Given the description of an element on the screen output the (x, y) to click on. 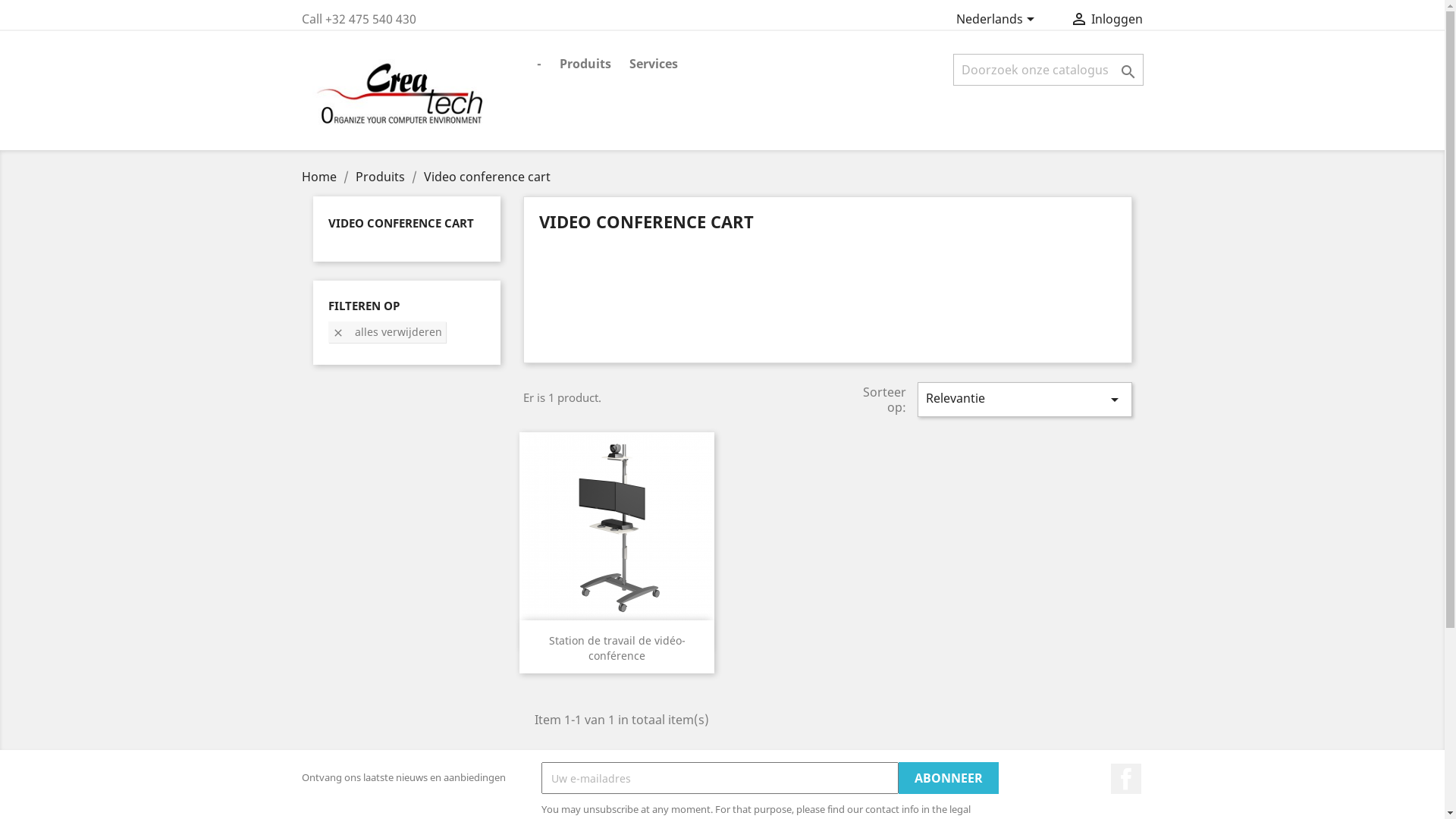
Produits Element type: text (380, 176)
VIDEO CONFERENCE CART Element type: text (400, 222)
Facebook Element type: text (1125, 778)
Services Element type: text (653, 64)
Video conference cart Element type: text (486, 176)
Abonneer Element type: text (948, 777)
- Element type: text (539, 64)
Produits Element type: text (585, 64)
Home Element type: text (320, 176)
